Given the description of an element on the screen output the (x, y) to click on. 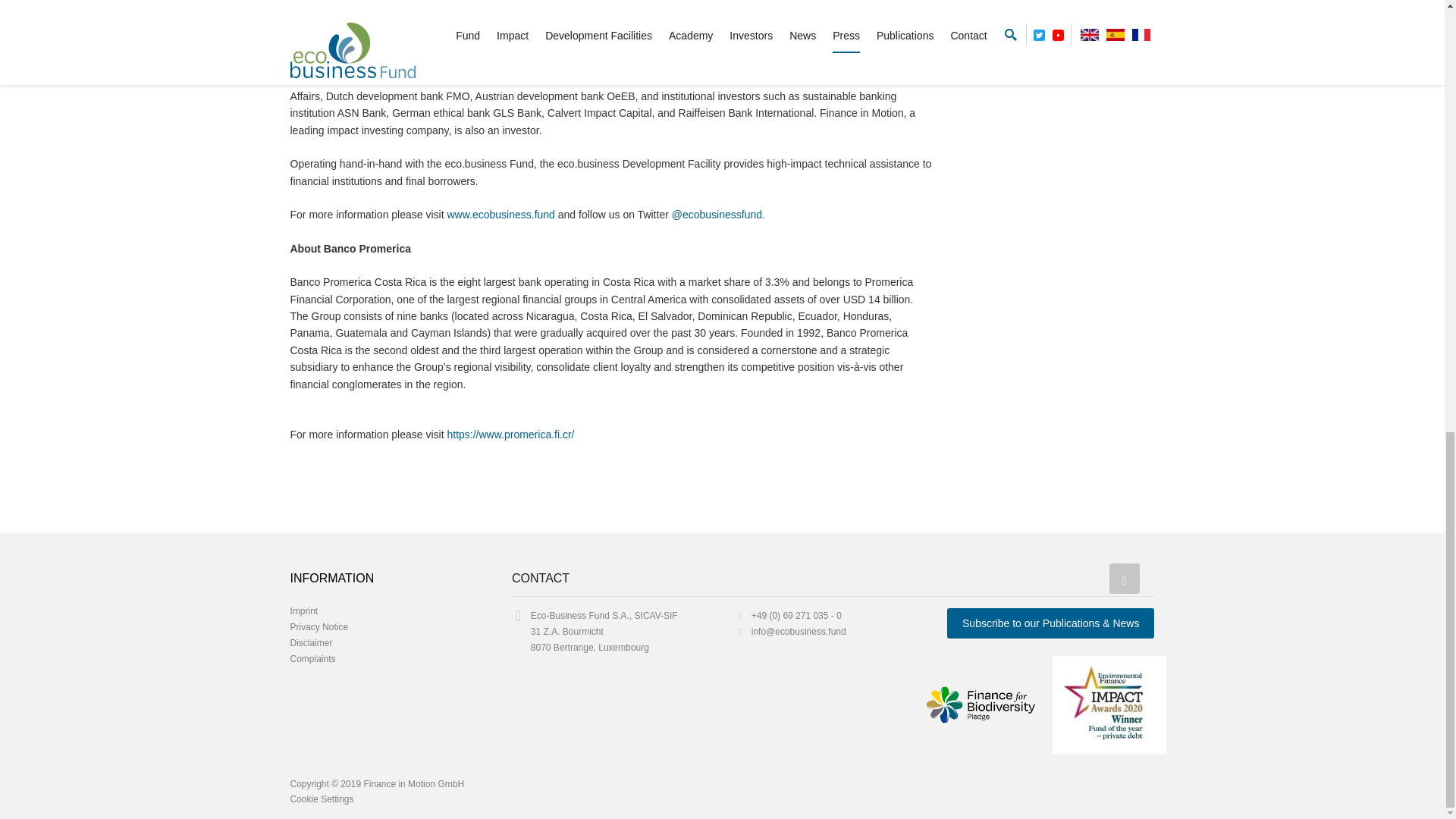
Imprint (303, 611)
www.ecobusiness.fund (500, 214)
Privacy Notice (318, 626)
Complaints (311, 658)
Disclaimer (310, 643)
